Given the description of an element on the screen output the (x, y) to click on. 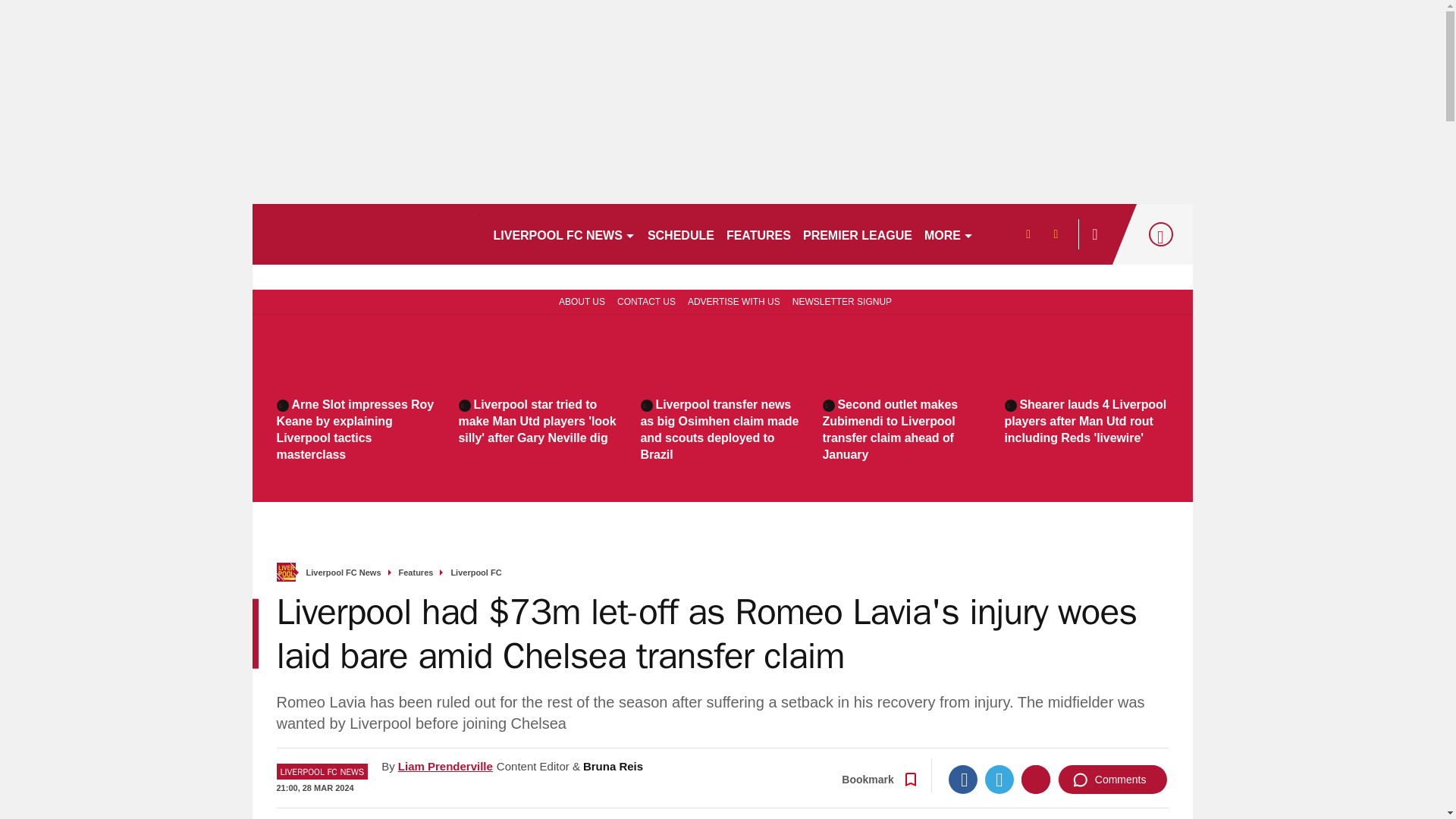
Facebook (962, 778)
PREMIER LEAGUE (857, 233)
ADVERTISE WITH US (733, 300)
liverpool (365, 233)
FEATURES (758, 233)
facebook (1026, 233)
NEWSLETTER SIGNUP (842, 300)
Liverpool FC (474, 572)
